Given the description of an element on the screen output the (x, y) to click on. 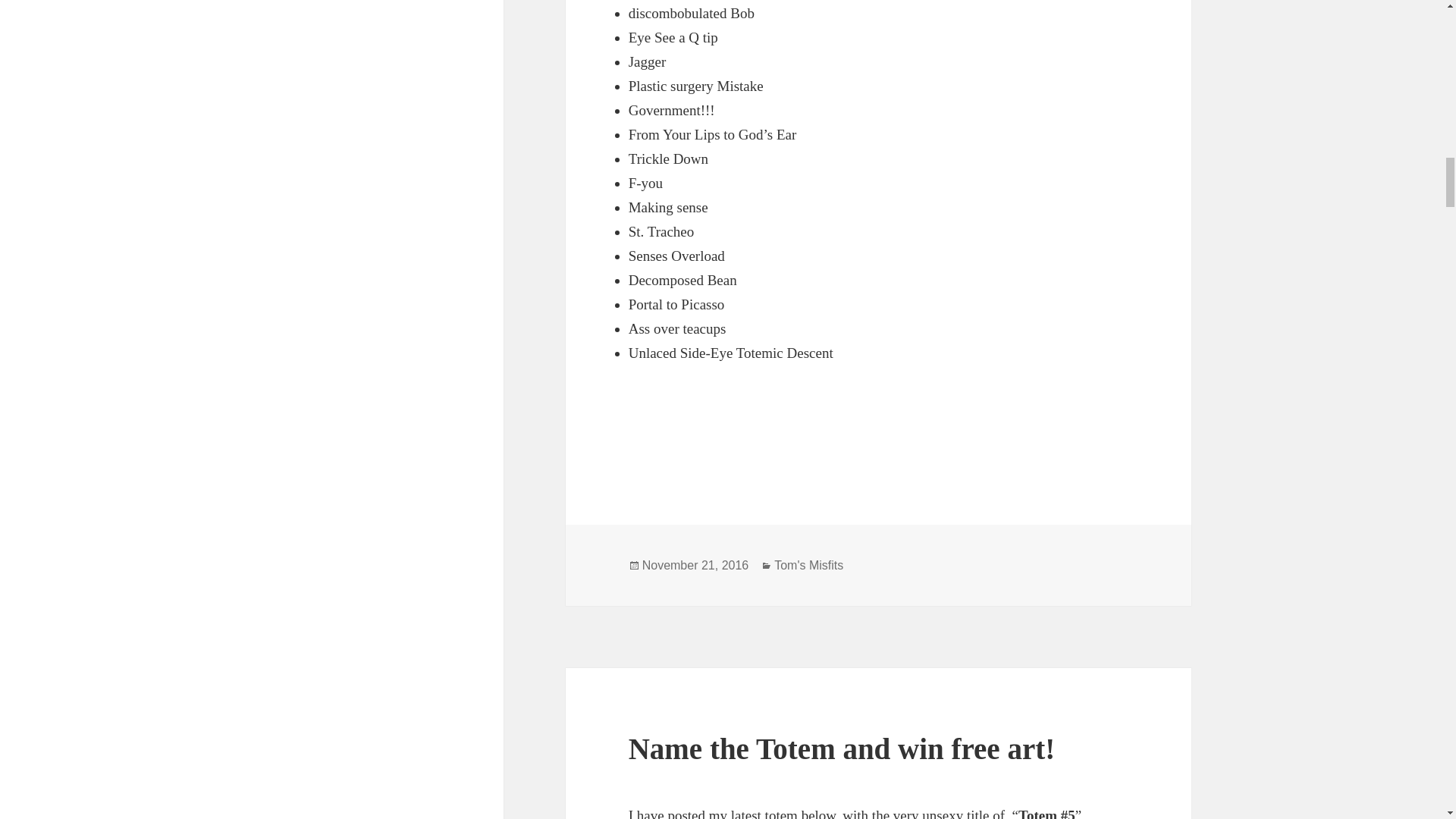
Name the Totem and win free art! (841, 748)
November 21, 2016 (695, 565)
Tom's Misfits (808, 565)
